Given the description of an element on the screen output the (x, y) to click on. 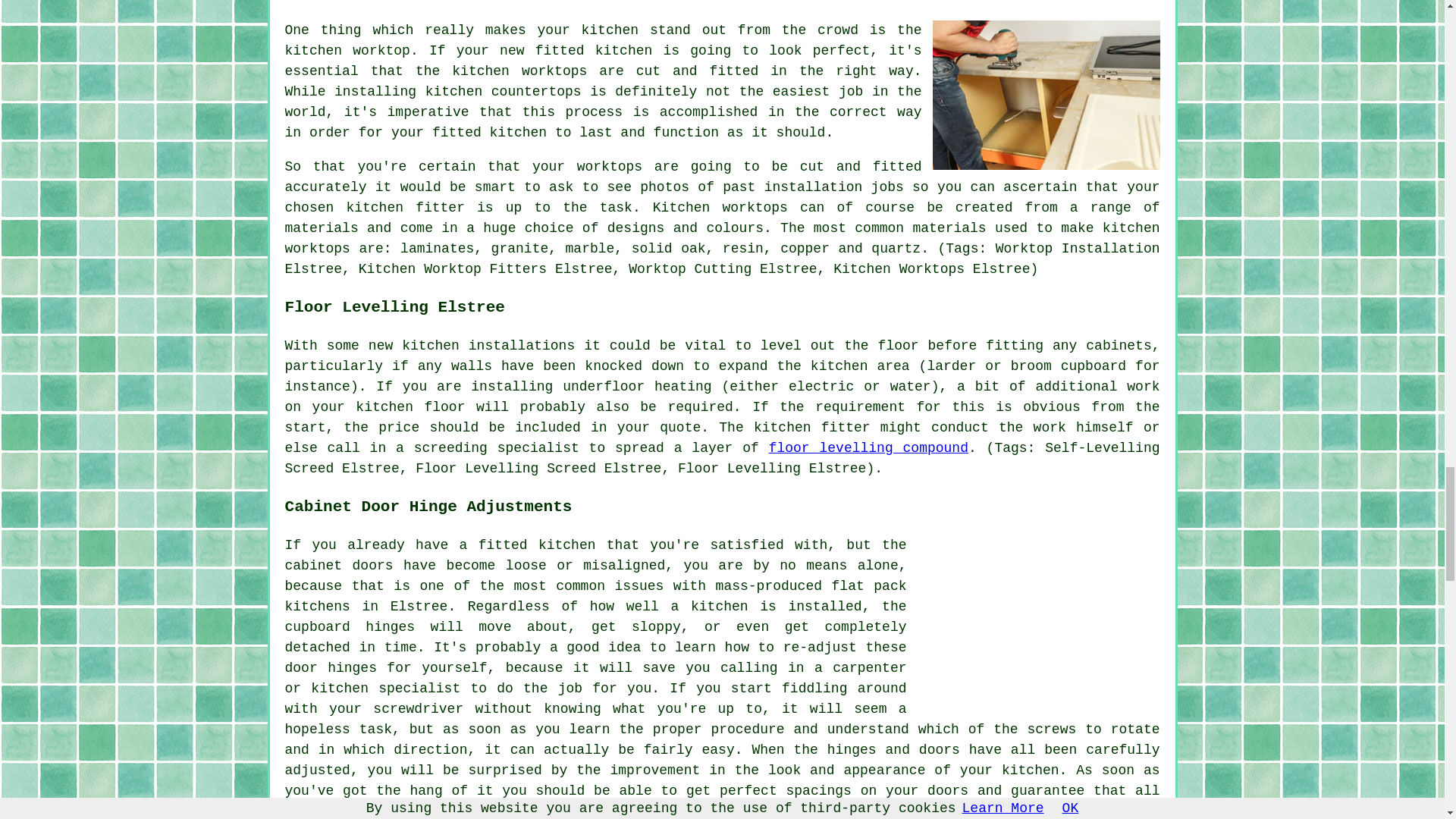
YouTube video player (1038, 626)
